Given the description of an element on the screen output the (x, y) to click on. 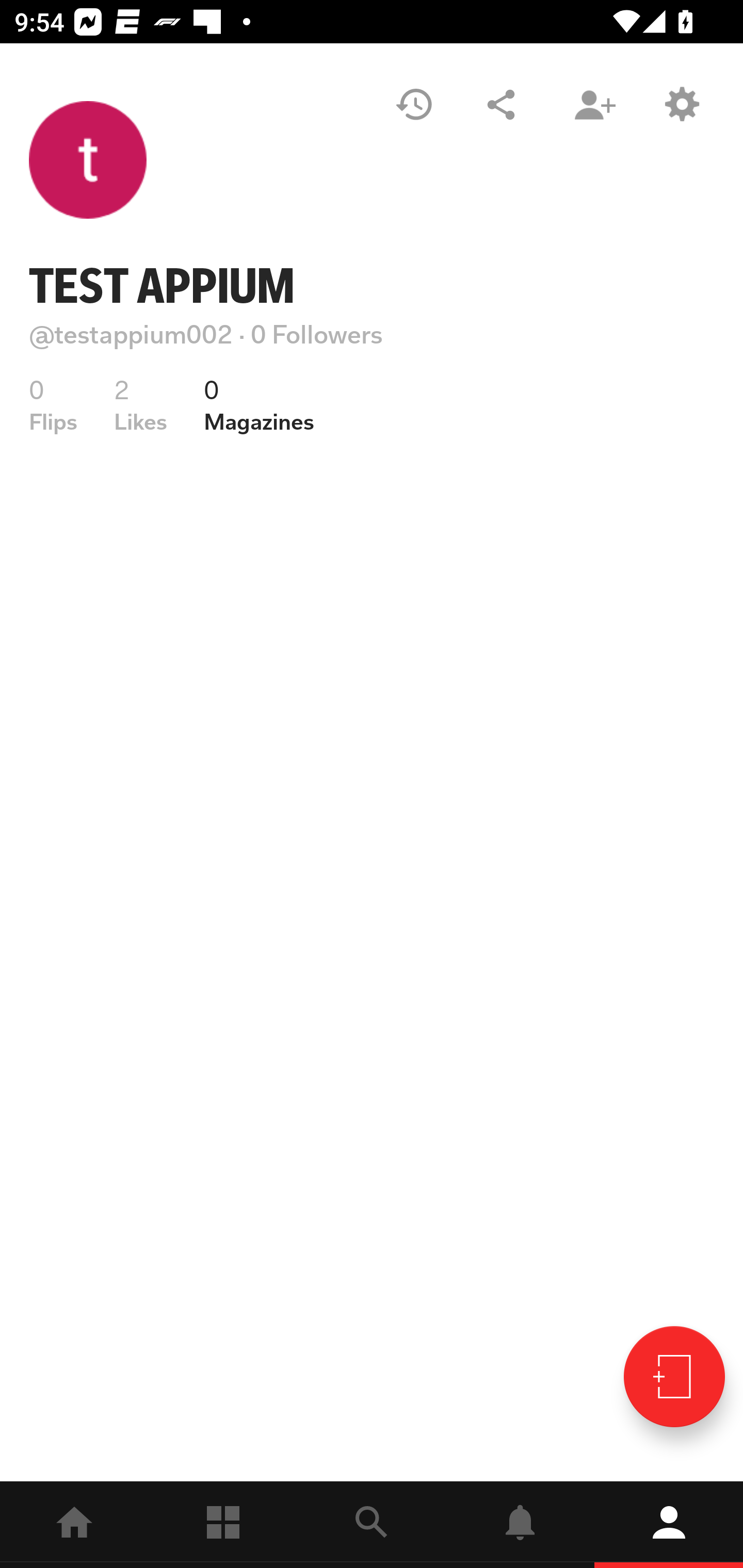
Share (500, 104)
Find Friends (594, 104)
Settings (681, 104)
TEST APPIUM (161, 286)
@testappium002 (130, 334)
0 Followers (317, 334)
0 Flips (53, 405)
2 Likes (140, 405)
0 Magazines (258, 405)
home (74, 1524)
Following (222, 1524)
explore (371, 1524)
Notifications (519, 1524)
Profile (668, 1524)
